Given the description of an element on the screen output the (x, y) to click on. 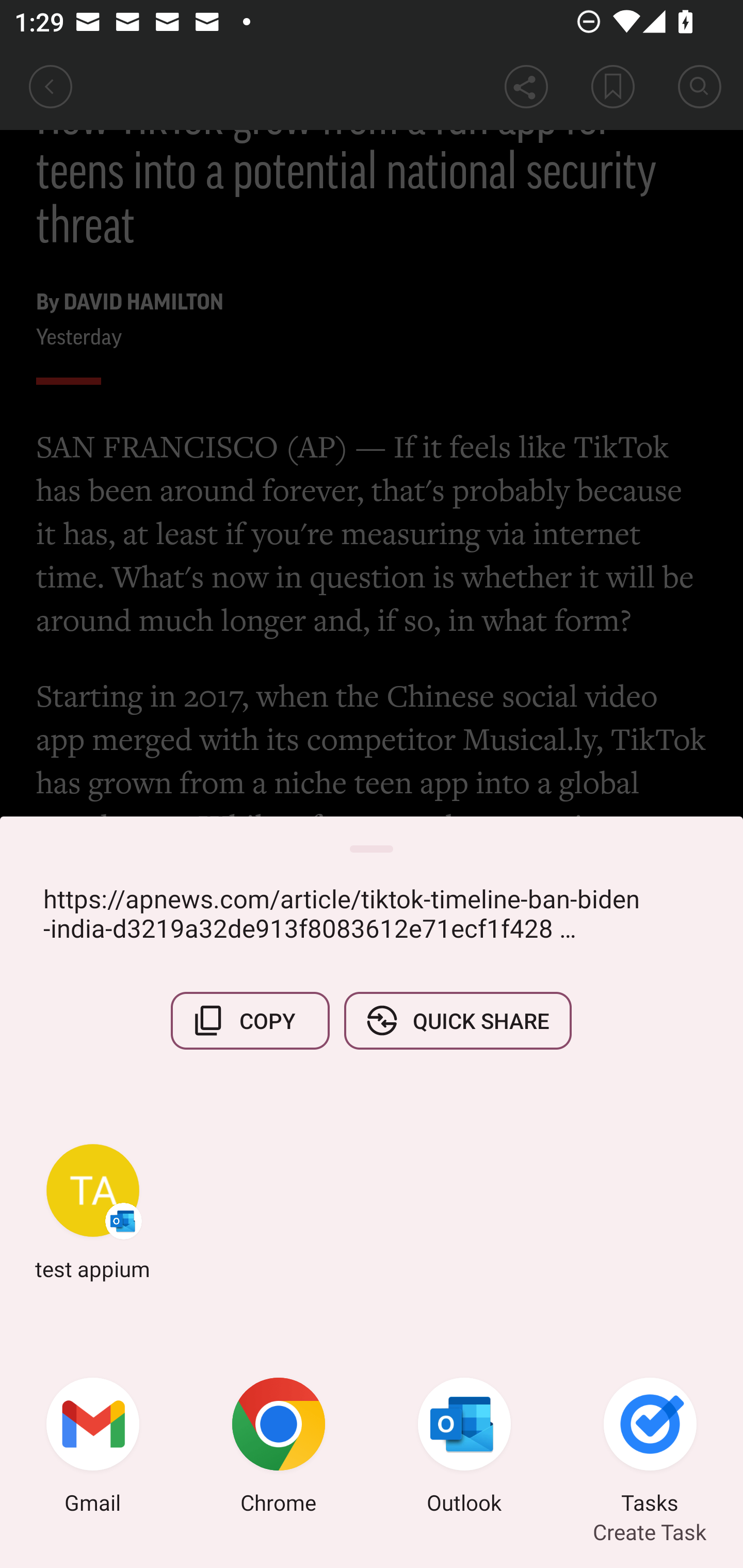
COPY (249, 1020)
QUICK SHARE (457, 1020)
test appium  Outlook test appium (92, 1212)
Gmail (92, 1448)
Chrome (278, 1448)
Outlook (464, 1448)
Tasks Create Task (650, 1448)
